Given the description of an element on the screen output the (x, y) to click on. 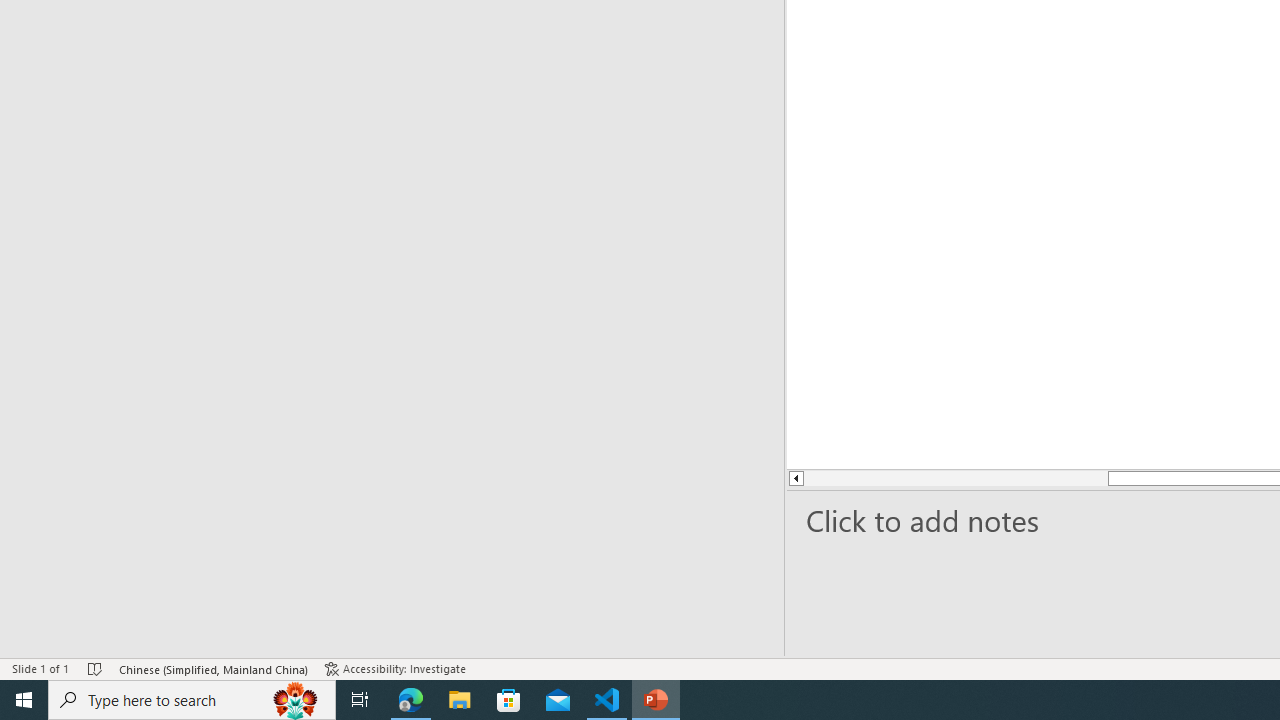
Page up (868, 478)
